Given the description of an element on the screen output the (x, y) to click on. 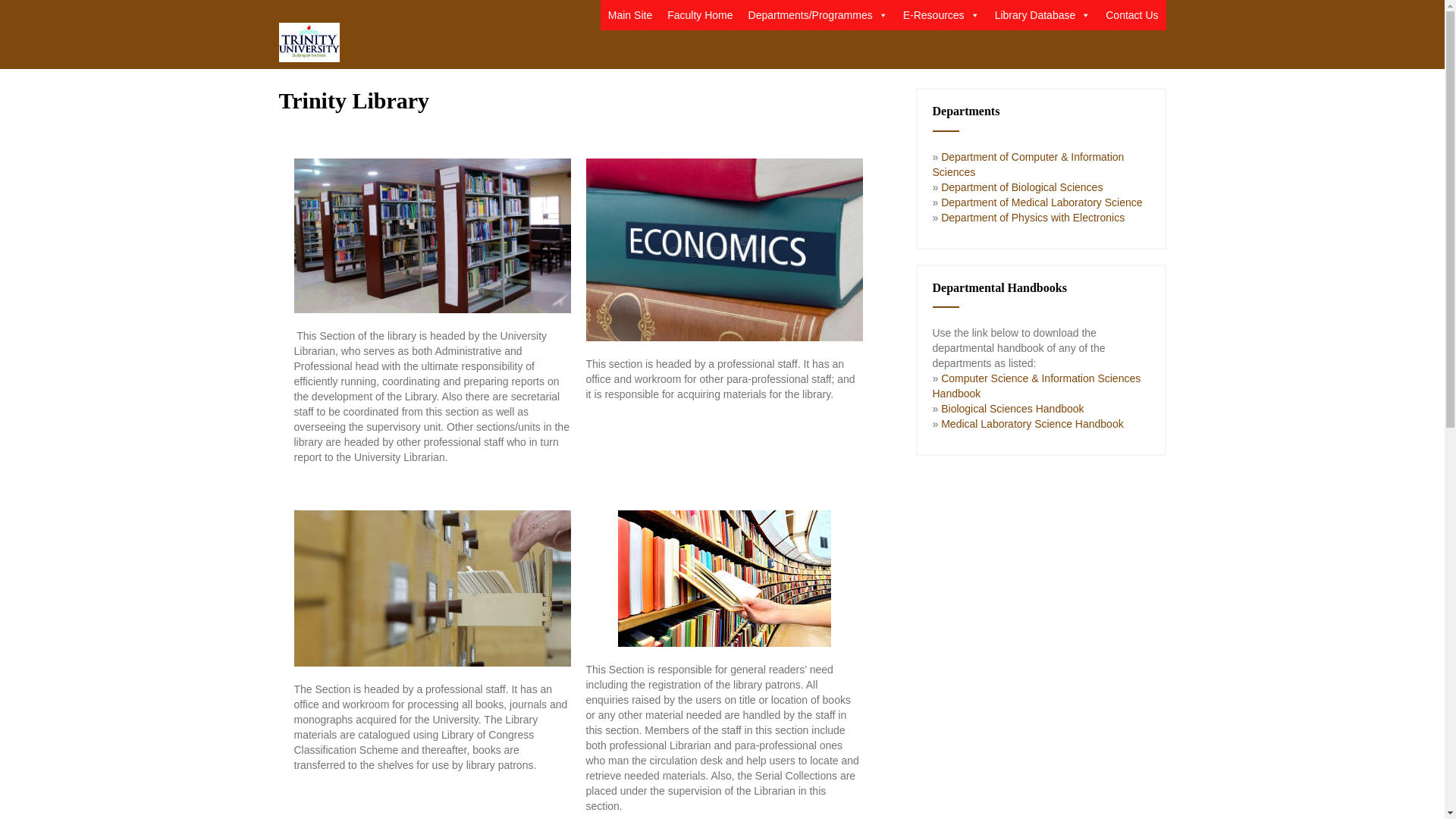
E-Resources (941, 15)
Department of Biological Sciences (1019, 186)
Library Database (1043, 15)
Department of Physics with Electronics (1030, 217)
Faculty Home (699, 15)
Department of Medical Laboratory Science (1040, 202)
Medical Laboratory Science Handbook (1029, 423)
Biological Sciences Handbook (1011, 408)
Contact Us (1131, 15)
Main Site (629, 15)
